Given the description of an element on the screen output the (x, y) to click on. 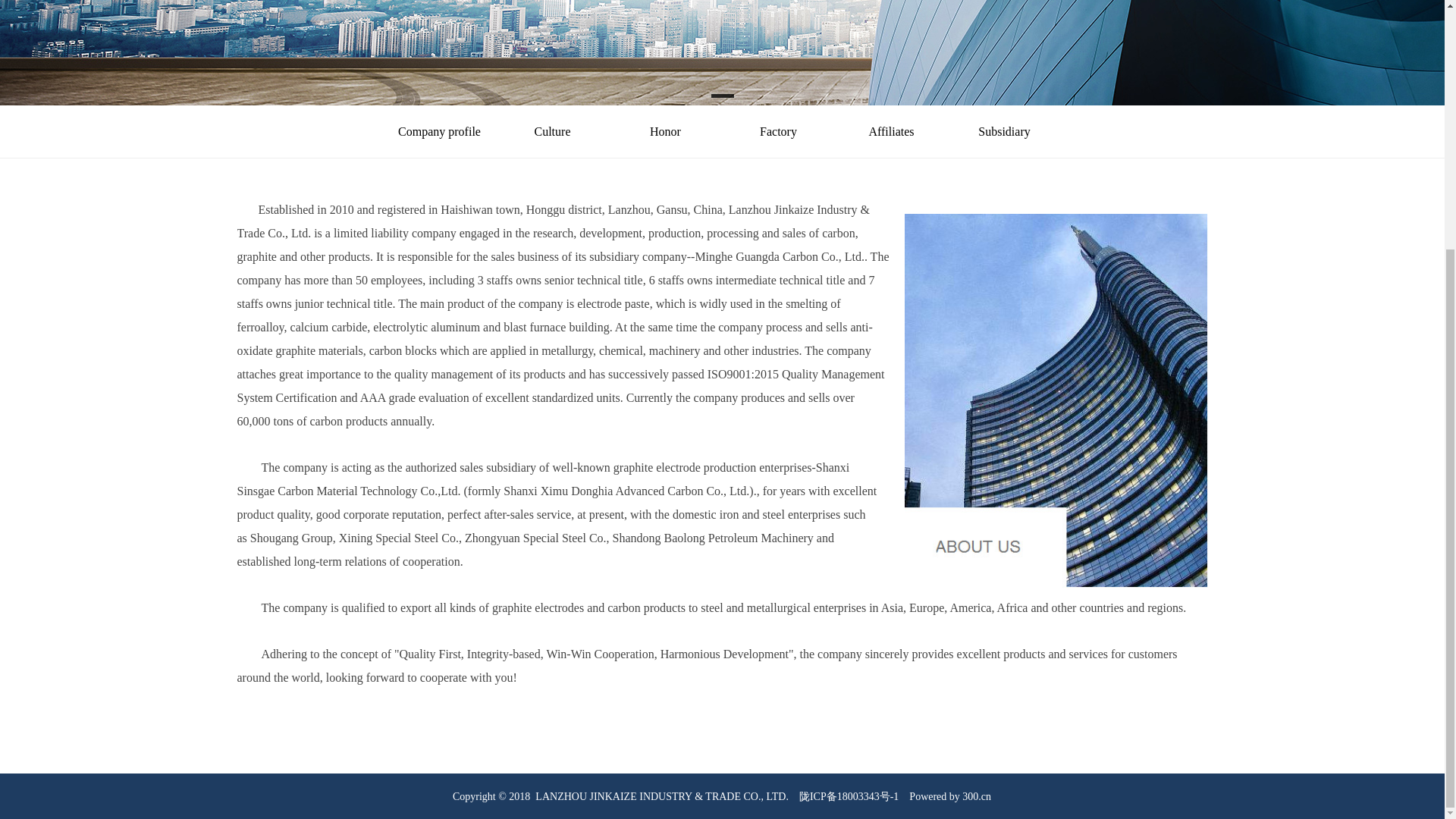
Subsidiary (1003, 132)
Factory (777, 132)
300.cn (976, 796)
Factory (777, 132)
Subsidiary (1003, 132)
Company profile (438, 132)
Honor (665, 132)
Company profile (438, 132)
Honor (665, 132)
Affiliates (891, 132)
